Given the description of an element on the screen output the (x, y) to click on. 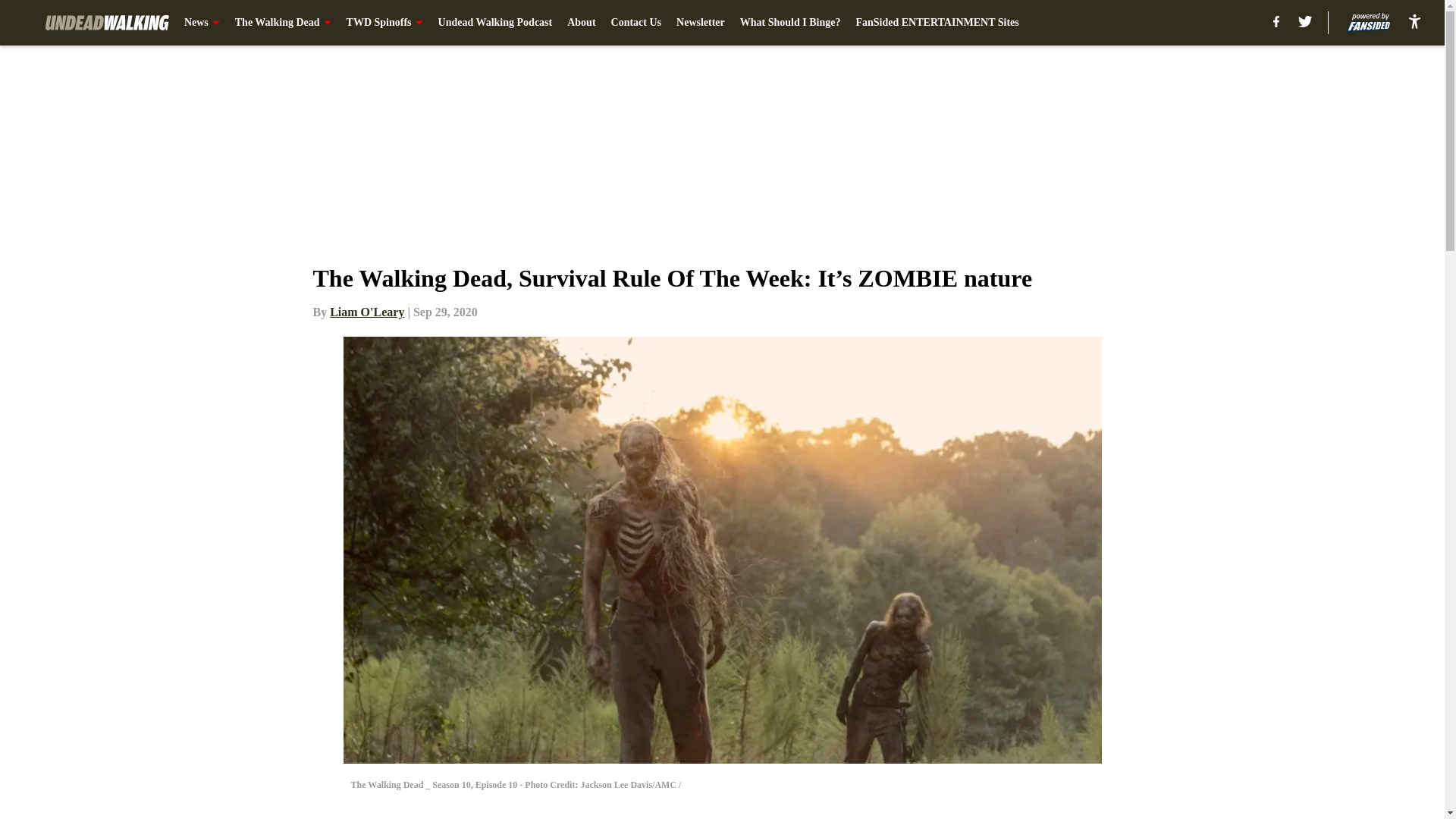
What Should I Binge? (790, 22)
Liam O'Leary (367, 311)
FanSided ENTERTAINMENT Sites (936, 22)
Contact Us (636, 22)
Undead Walking Podcast (495, 22)
Newsletter (701, 22)
About (581, 22)
